Given the description of an element on the screen output the (x, y) to click on. 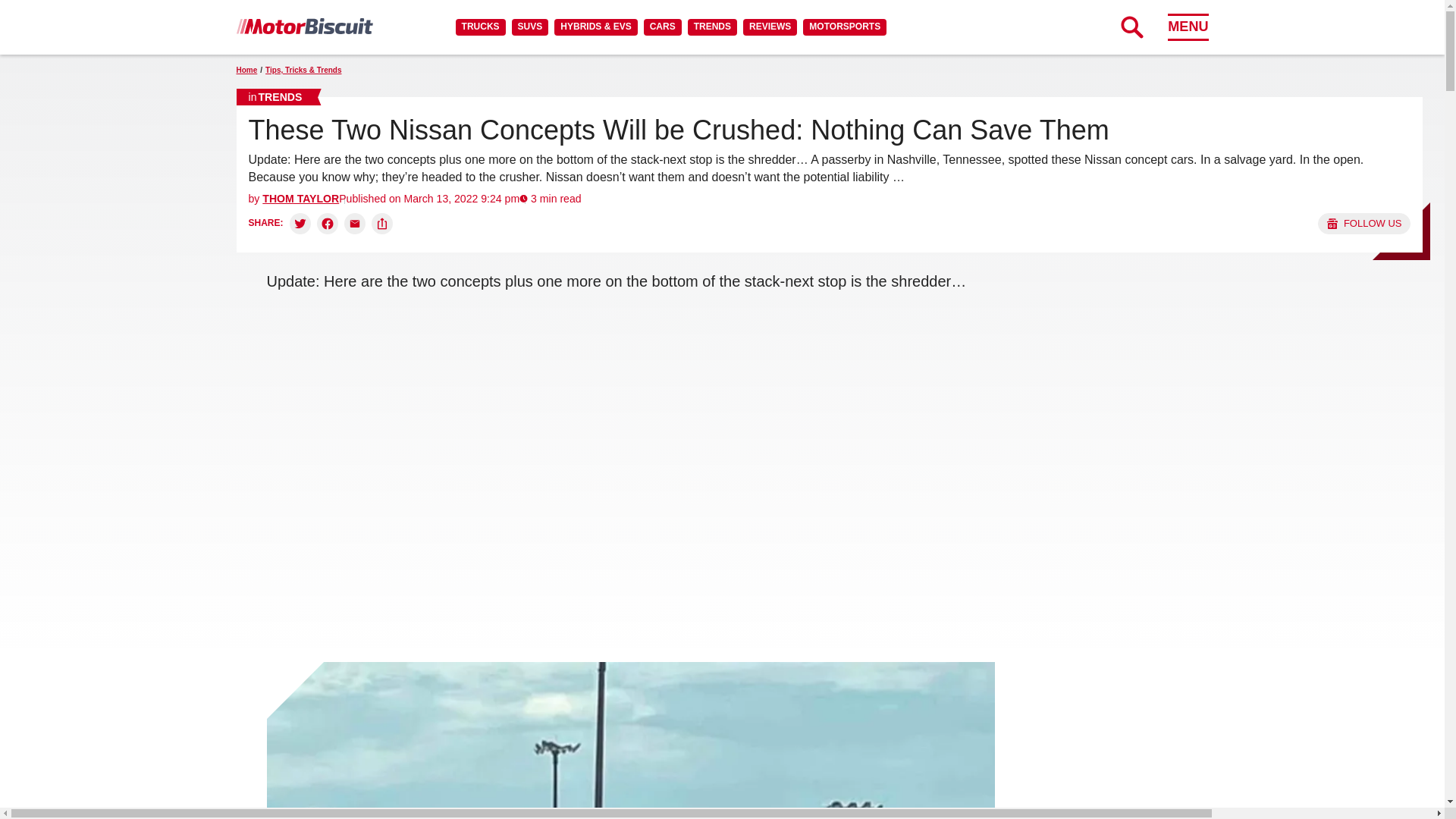
TRUCKS (480, 26)
REVIEWS (769, 26)
CARS (662, 26)
Copy link and share:  (382, 223)
TRENDS (711, 26)
Trends (274, 96)
MotorBiscuit (303, 26)
Follow us on Google News (1363, 223)
SUVS (530, 26)
